Given the description of an element on the screen output the (x, y) to click on. 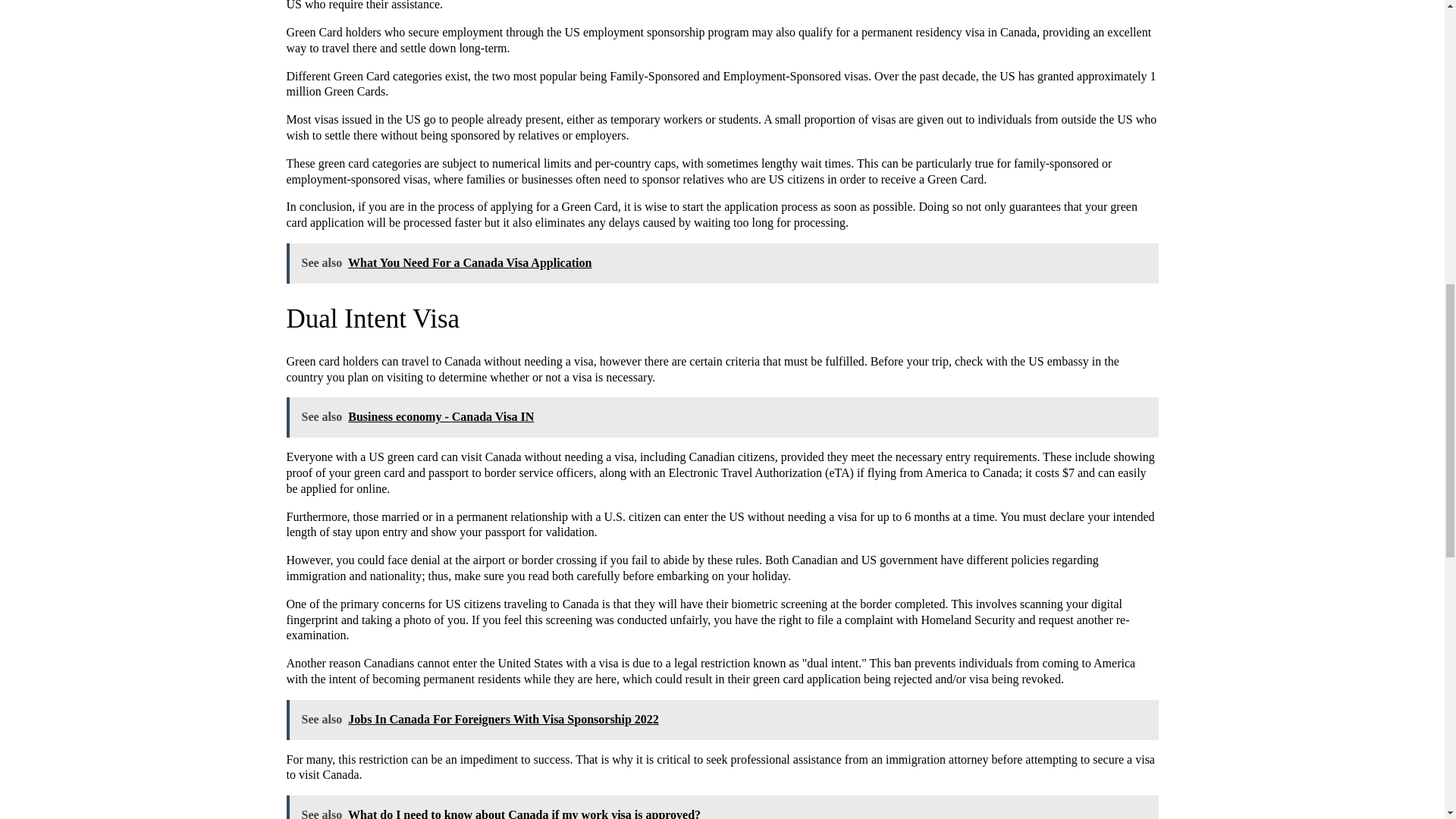
See also  Business economy - Canada Visa IN (722, 417)
See also  What You Need For a Canada Visa Application (722, 263)
